Given the description of an element on the screen output the (x, y) to click on. 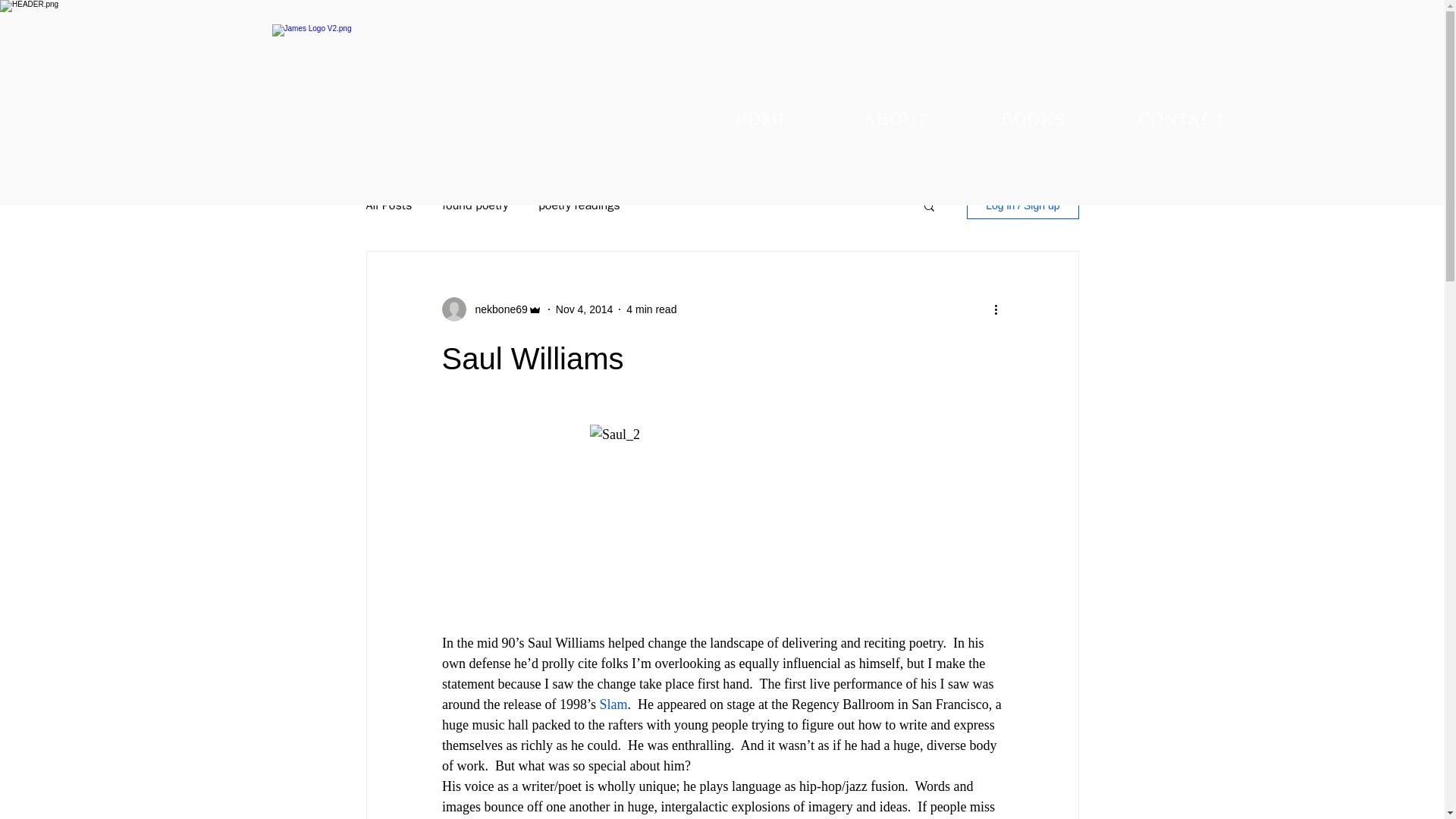
Slam (612, 703)
4 min read (651, 309)
Nov 4, 2014 (584, 309)
HOME (761, 119)
CONTACT (1182, 119)
nekbone69 (496, 309)
BOOKS (1033, 119)
All Posts (388, 204)
poetry readings (579, 204)
found poetry (475, 204)
ABOUT (894, 119)
